Given the description of an element on the screen output the (x, y) to click on. 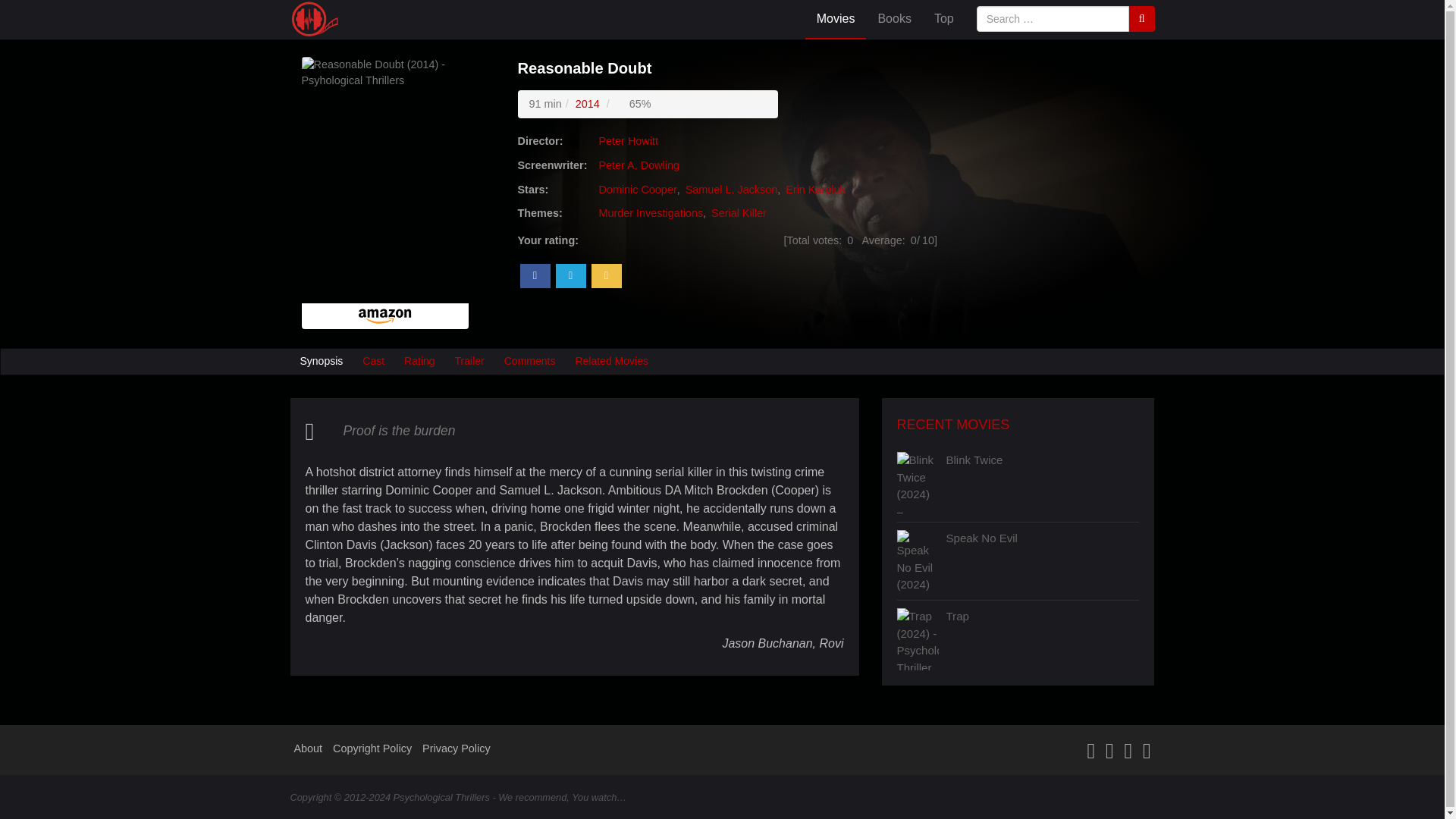
Erin Karpluk (813, 189)
Murder Investigations (650, 213)
Top (944, 19)
Peter A. Dowling (636, 164)
Cast (373, 361)
Related Movies (611, 361)
Trap (1043, 637)
2014 (587, 103)
Search for: (1052, 18)
Speak No Evil (1043, 558)
